Given the description of an element on the screen output the (x, y) to click on. 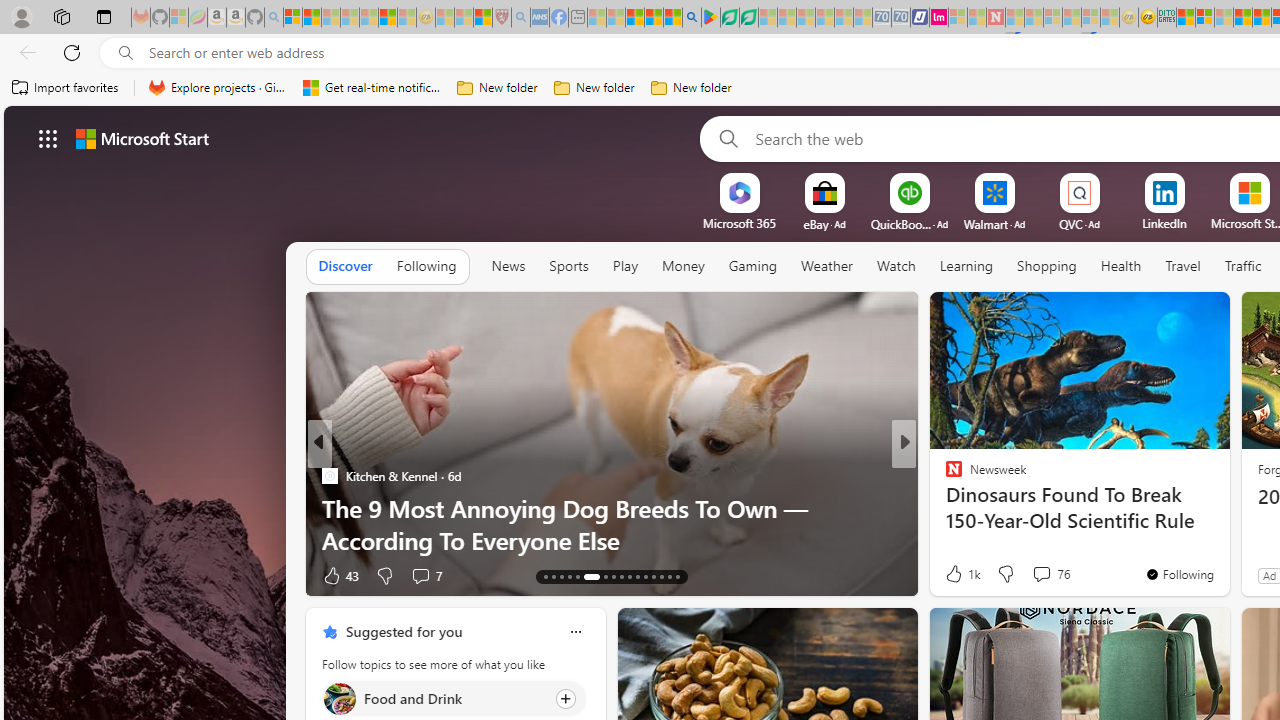
View comments 6 Comment (1041, 574)
View comments 6 Comment (1036, 575)
AutomationID: tab-39 (677, 576)
